Given the description of an element on the screen output the (x, y) to click on. 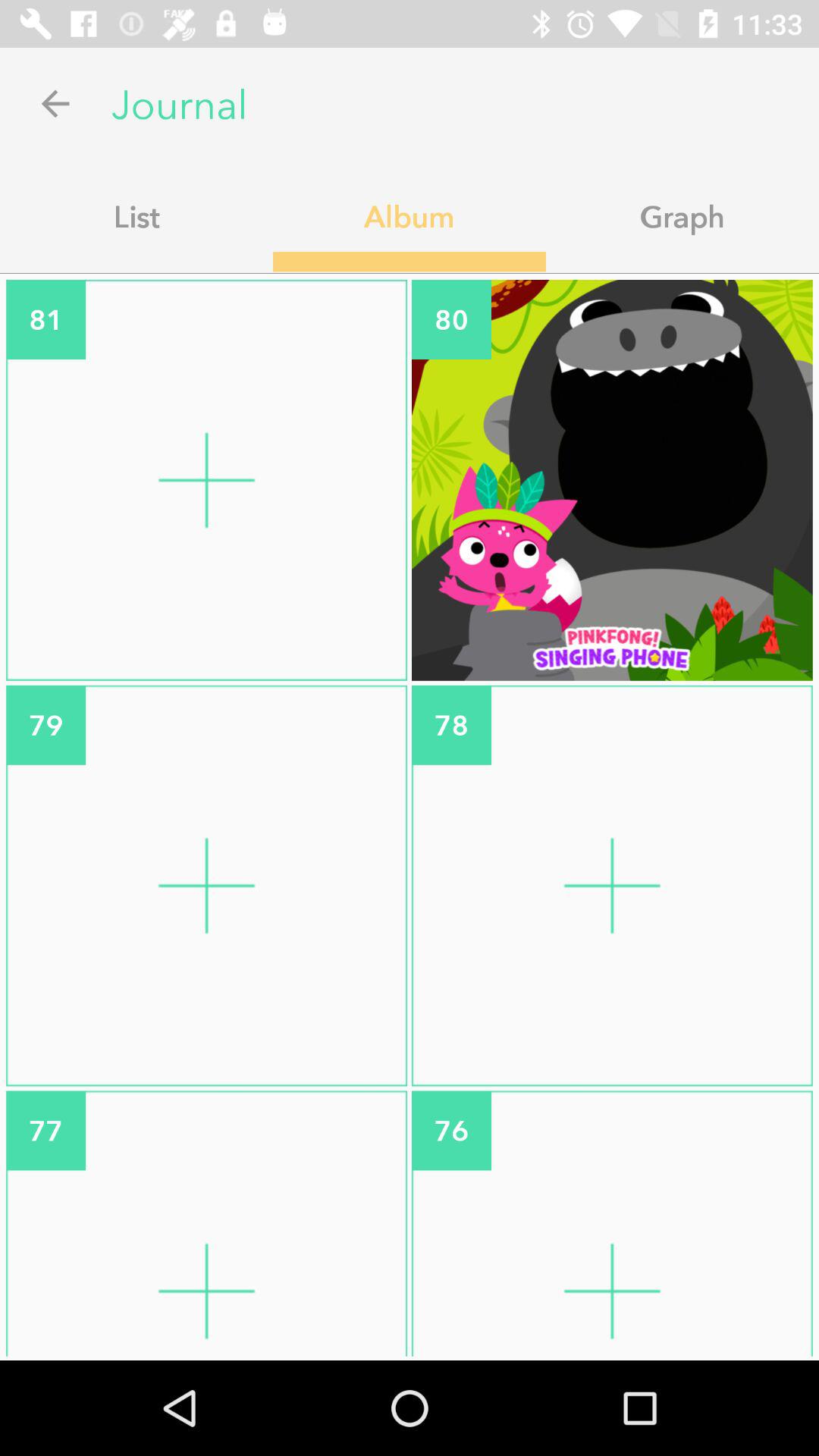
click icon next to journal item (55, 103)
